Given the description of an element on the screen output the (x, y) to click on. 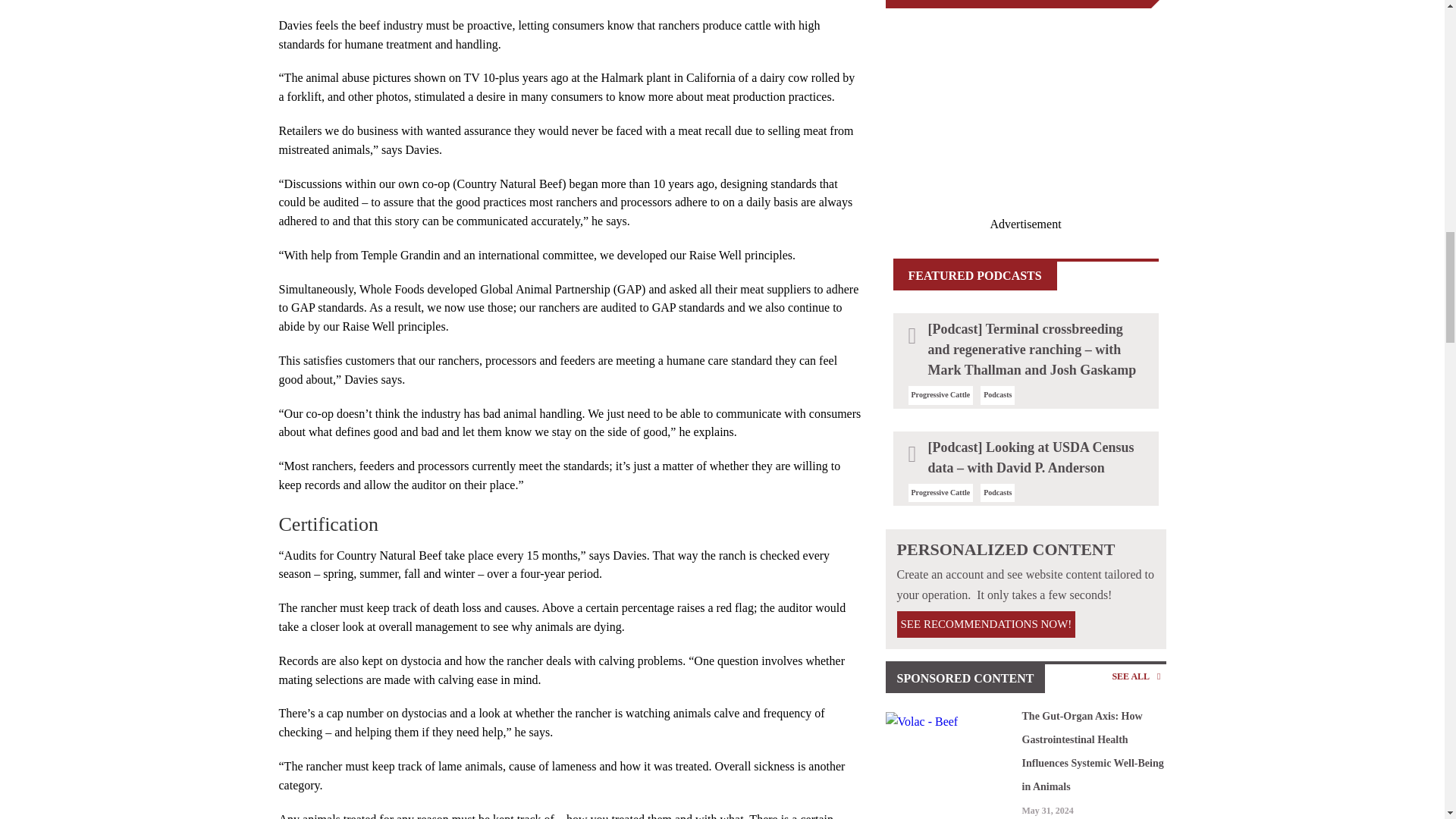
Progressive Cattle (941, 394)
Podcasts (997, 394)
Progressive Cattle (941, 492)
volac-beef-main.jpg (949, 721)
